Given the description of an element on the screen output the (x, y) to click on. 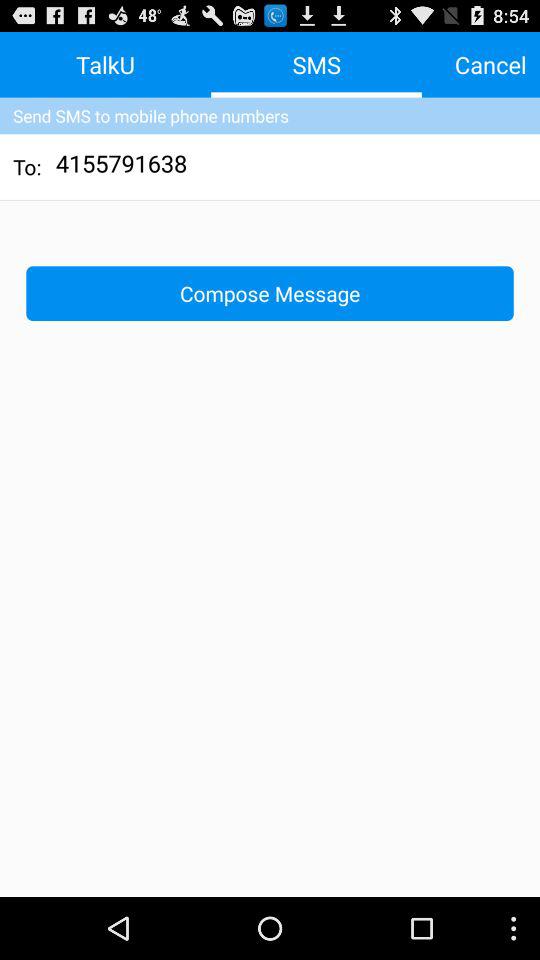
press icon at the top right corner (490, 64)
